Given the description of an element on the screen output the (x, y) to click on. 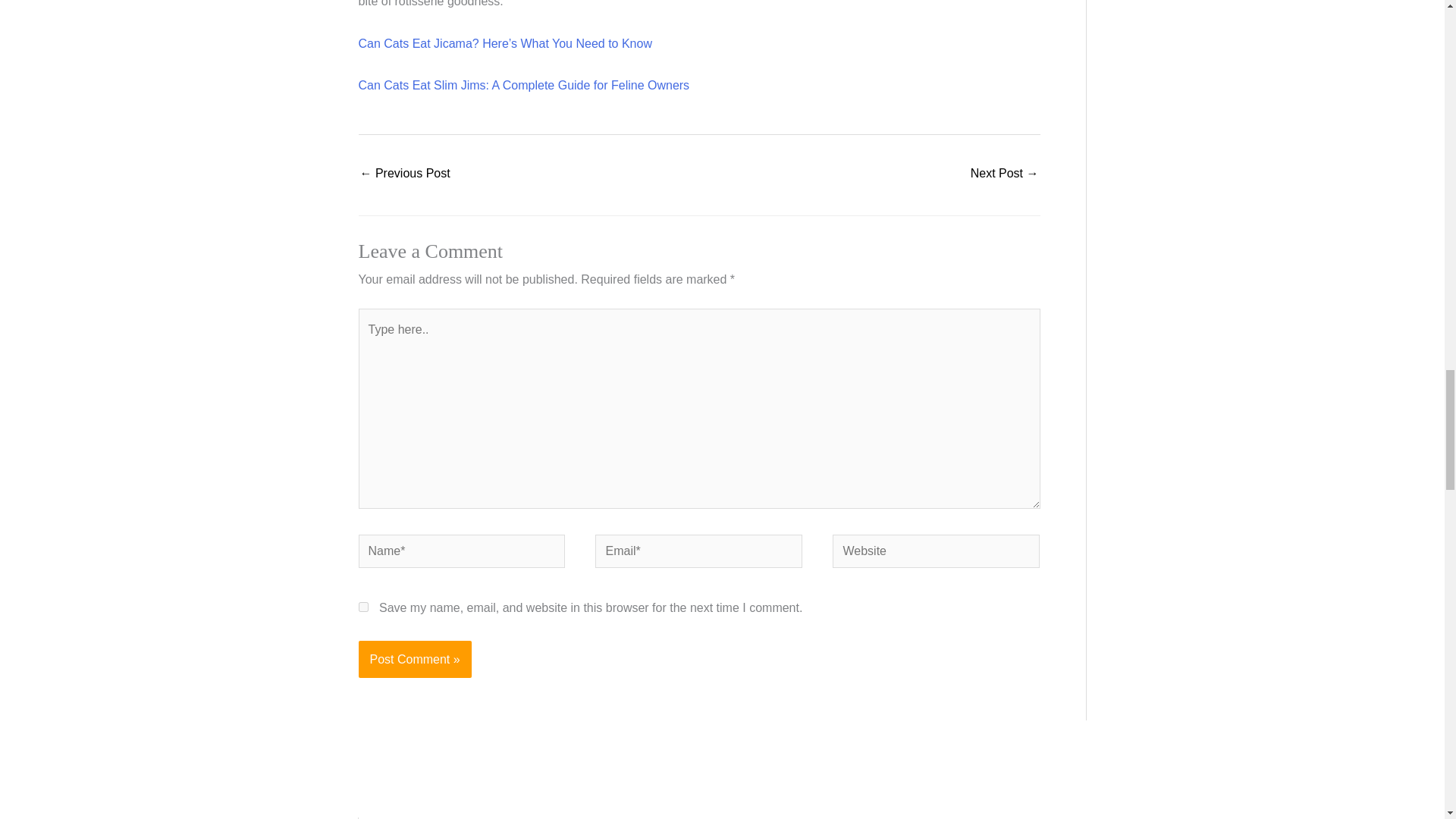
are calico cats hypoallergenic (1005, 174)
yes (363, 606)
Can Cats Eat Slim Jims: A Complete Guide for Feline Owners (523, 84)
